Given the description of an element on the screen output the (x, y) to click on. 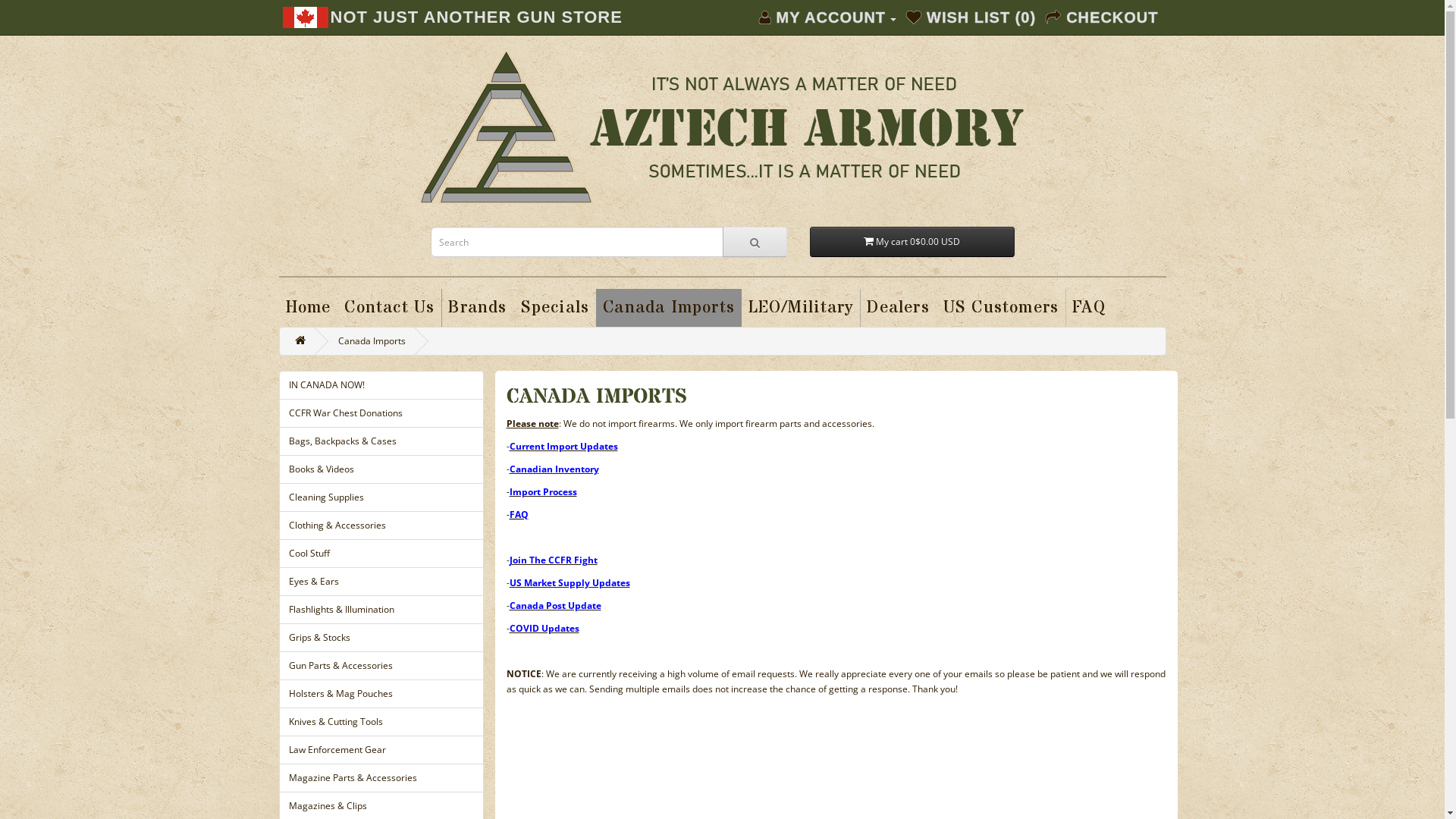
MY ACCOUNT Element type: text (827, 17)
Brands Element type: text (477, 307)
Join The CCFR Fight Element type: text (553, 559)
FAQ Element type: text (1088, 307)
Flashlights & Illumination Element type: text (381, 609)
Grips & Stocks Element type: text (381, 637)
My cart 0$0.00 USD Element type: text (911, 241)
CCFR War Chest Donations Element type: text (381, 412)
Bags, Backpacks & Cases Element type: text (381, 440)
Home Element type: text (308, 307)
- Element type: text (507, 491)
LEO/Military Element type: text (800, 307)
Canada Imports Element type: text (668, 307)
Canada Post Update Element type: text (555, 605)
CHECKOUT Element type: text (1101, 17)
Magazine Parts & Accessories Element type: text (381, 777)
Contact Us Element type: text (389, 307)
Gun Parts & Accessories Element type: text (381, 665)
Import Process Element type: text (543, 491)
Cleaning Supplies Element type: text (381, 497)
COVID Updates Element type: text (544, 627)
Canada Imports Element type: text (371, 340)
Aztech Armory Canada Element type: hover (722, 126)
Clothing & Accessories Element type: text (381, 525)
US Market Supply Updates Element type: text (569, 582)
Eyes & Ears Element type: text (381, 581)
IN CANADA NOW! Element type: text (381, 384)
Holsters & Mag Pouches Element type: text (381, 693)
Cool Stuff Element type: text (381, 553)
Canadian Inventory Element type: text (554, 468)
Current Import Updates Element type: text (563, 445)
Law Enforcement Gear Element type: text (381, 749)
Specials Element type: text (555, 307)
WISH LIST (0) Element type: text (970, 17)
Knives & Cutting Tools Element type: text (381, 721)
Dealers Element type: text (897, 307)
US Customers Element type: text (1000, 307)
- Element type: text (507, 514)
Books & Videos Element type: text (381, 469)
FAQ Element type: text (518, 514)
